Given the description of an element on the screen output the (x, y) to click on. 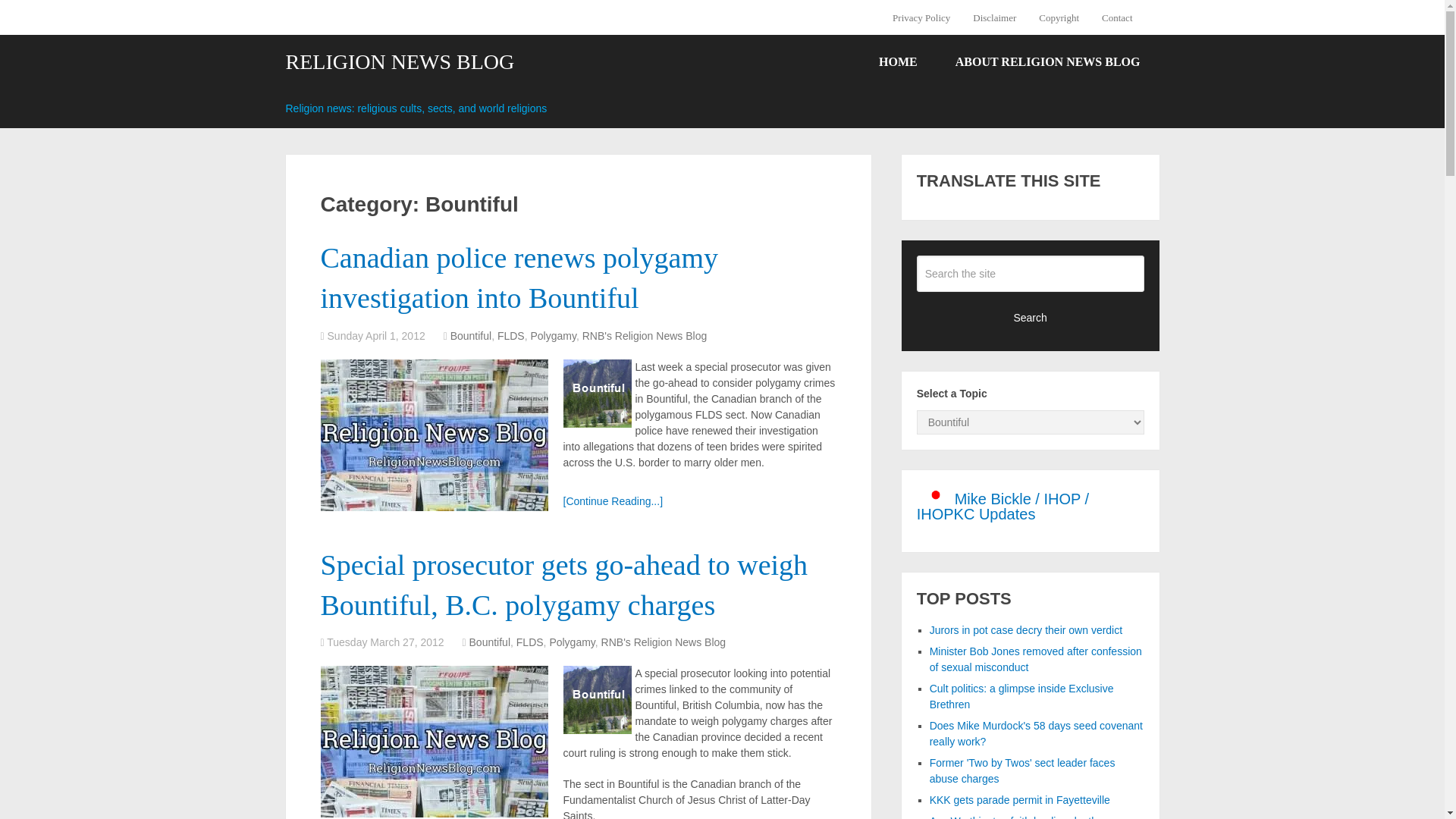
Polygamy (552, 336)
Polygamy (571, 642)
Copyright (1058, 17)
RNB's Religion News Blog (663, 642)
HOME (898, 62)
FLDS (529, 642)
FLDS (510, 336)
Canadian police renews polygamy investigation into Bountiful (518, 277)
Bountiful (470, 336)
View all posts in Polygamy (571, 642)
View all posts in RNB's Religion News Blog (663, 642)
Canadian police renews polygamy investigation into Bountiful (518, 277)
View all posts in RNB's Religion News Blog (644, 336)
View all posts in FLDS (510, 336)
